Given the description of an element on the screen output the (x, y) to click on. 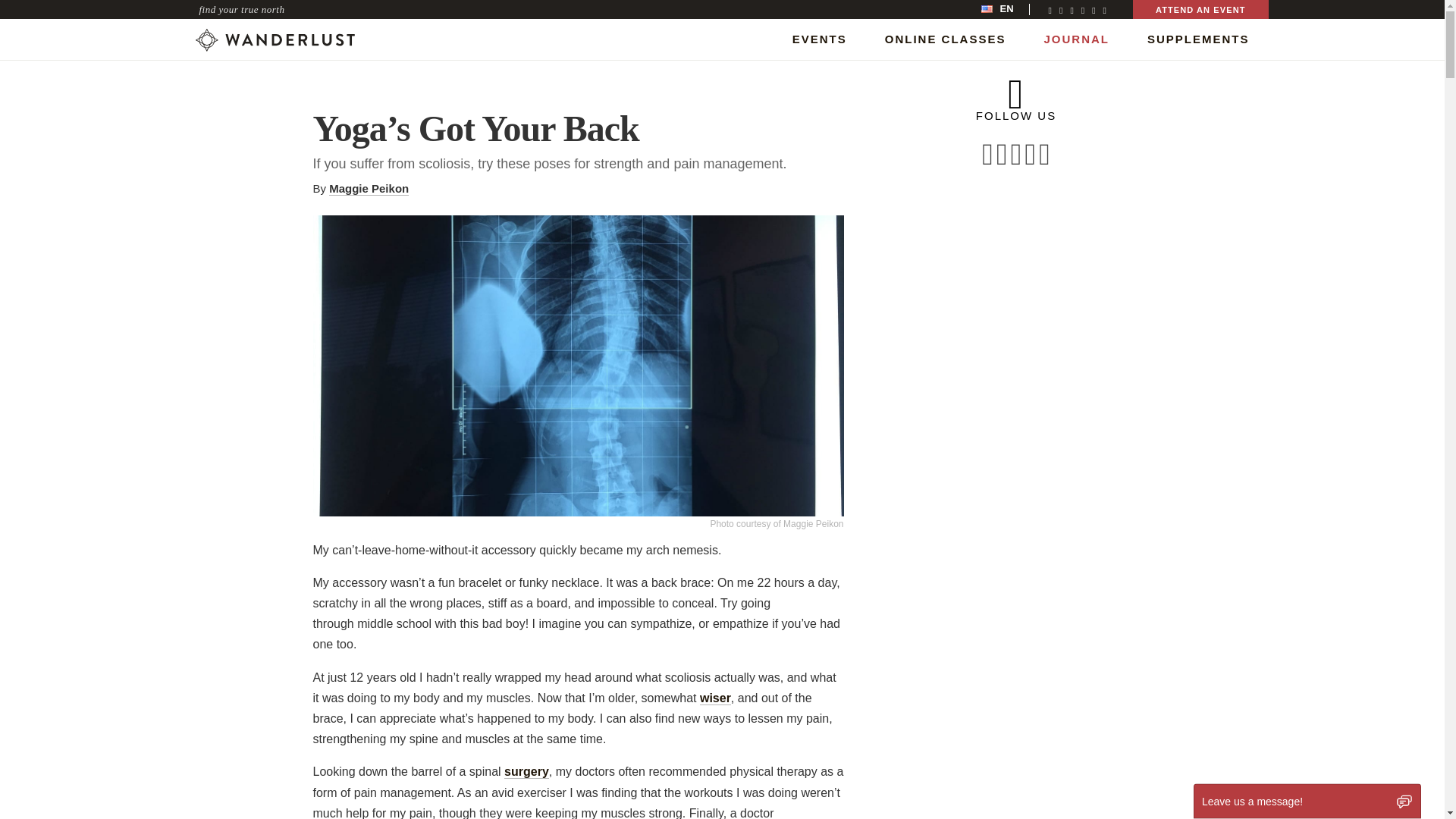
JOURNAL (1076, 38)
Posts by Maggie Peikon (369, 188)
ATTEND AN EVENT (1200, 9)
EVENTS (819, 38)
SUPPLEMENTS (1198, 38)
ONLINE CLASSES (945, 38)
